Given the description of an element on the screen output the (x, y) to click on. 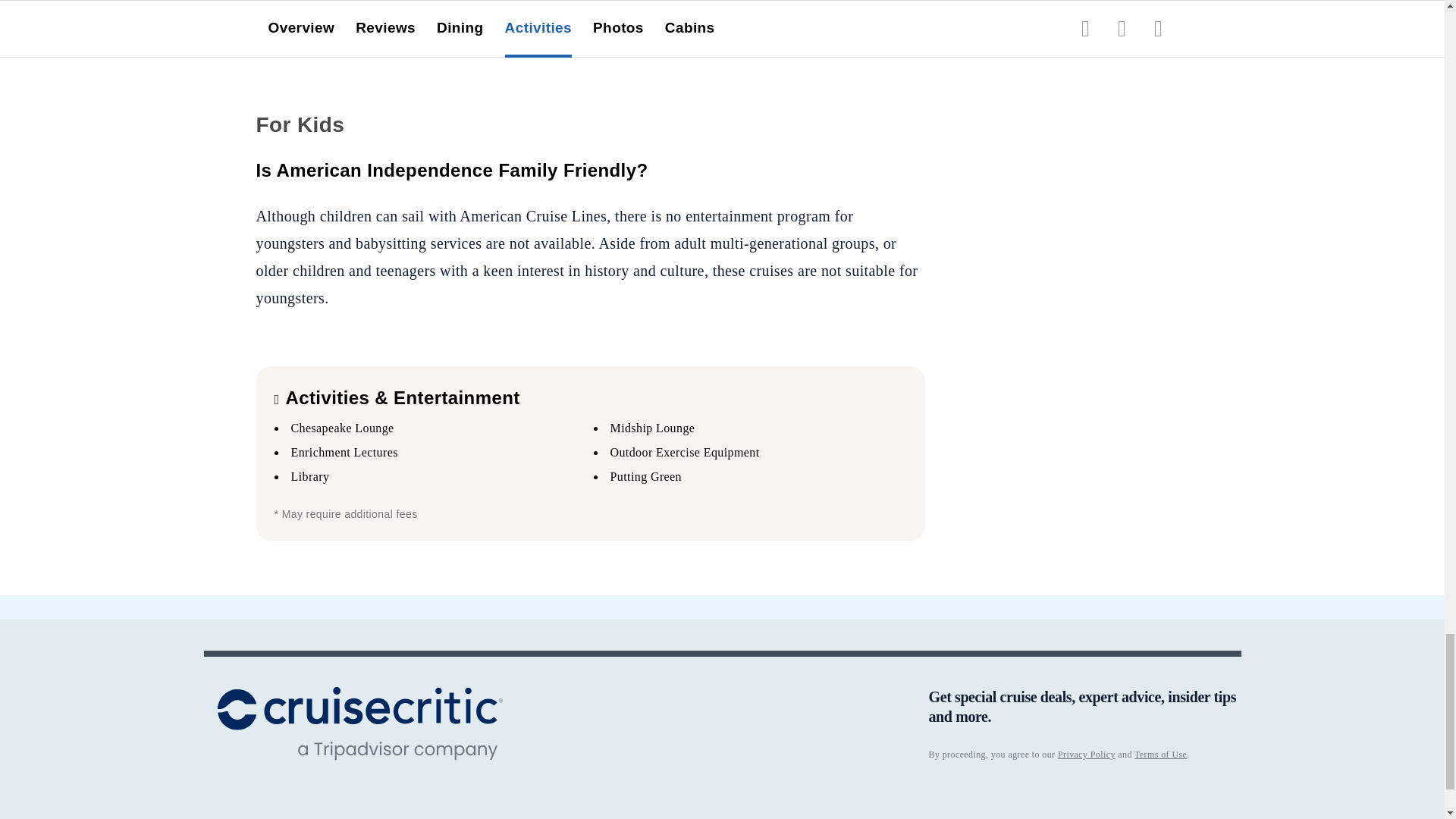
Terms of Use (1160, 754)
Cookie consent (587, 818)
Privacy Policy (1086, 754)
